Given the description of an element on the screen output the (x, y) to click on. 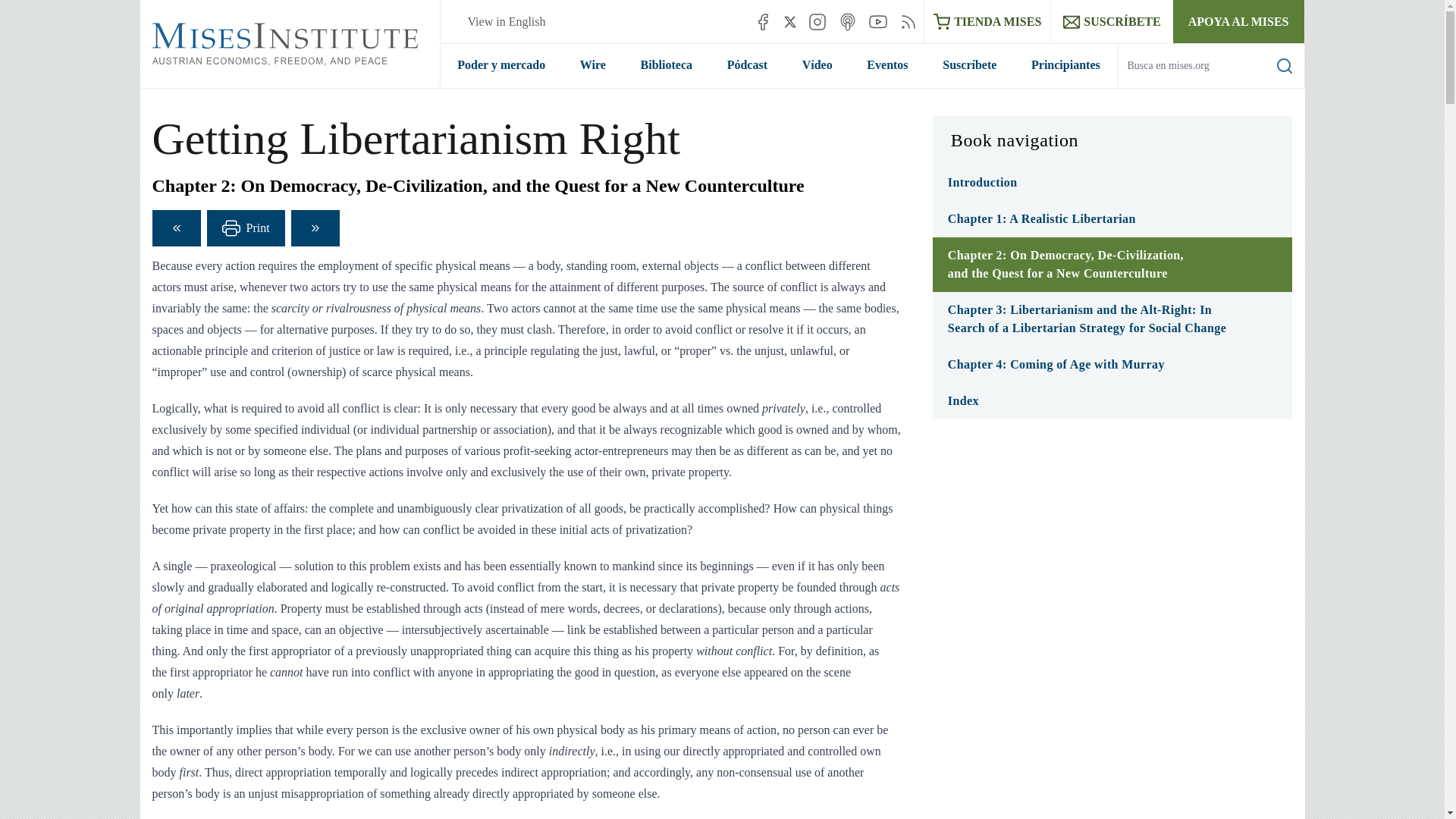
Mises Facebook (762, 21)
Poder y mercado (500, 65)
View in English (505, 21)
Mises itunes (847, 21)
Go to next page (315, 227)
Search (1284, 65)
Go to previous page (175, 227)
Mises RSS feed (908, 21)
Biblioteca (666, 65)
